Given the description of an element on the screen output the (x, y) to click on. 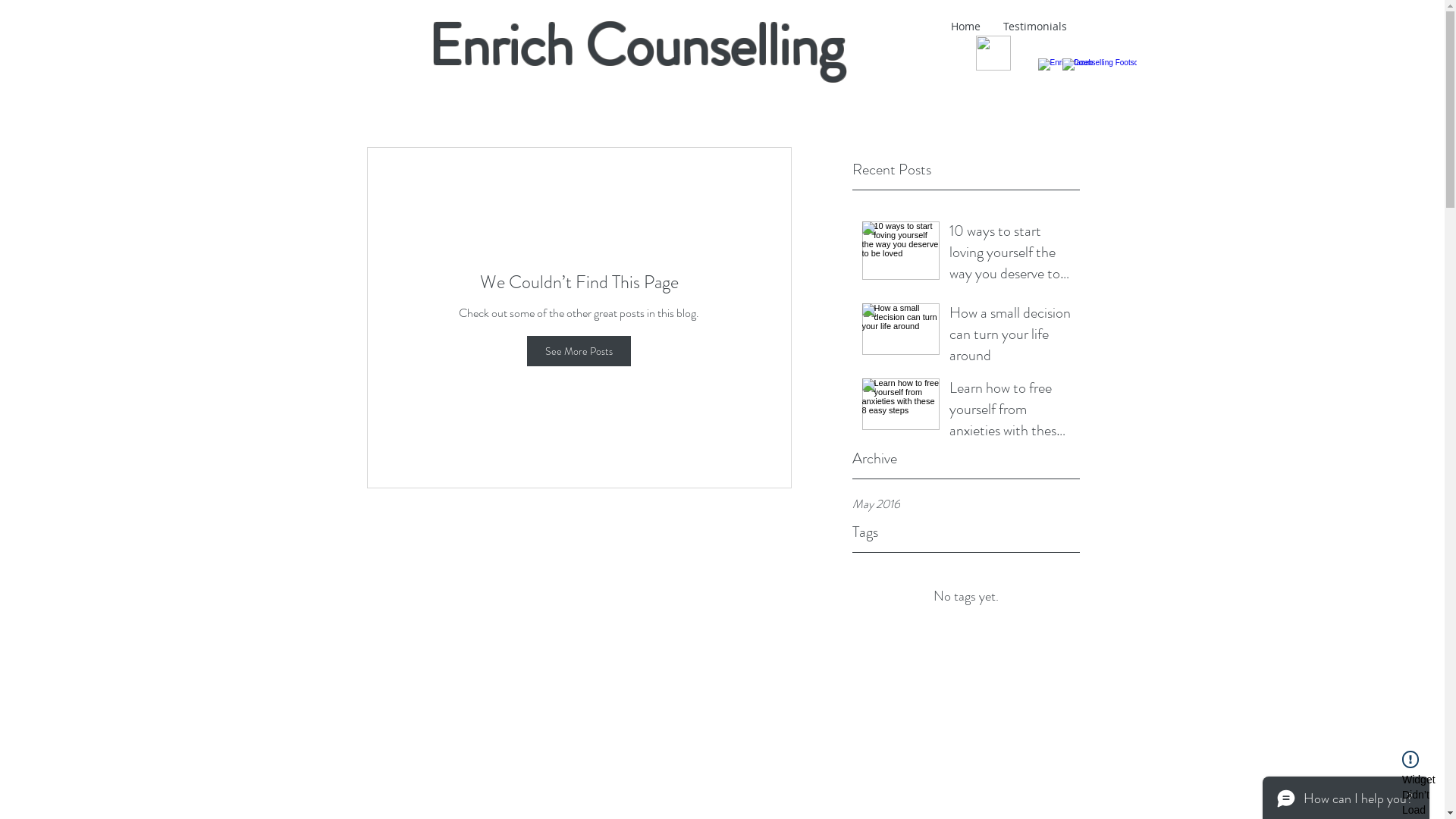
May 2016 Element type: text (965, 504)
Home Element type: text (964, 26)
Testimonials Element type: text (1034, 26)
See More Posts Element type: text (578, 350)
Menu Element type: hover (992, 52)
How a small decision can turn your life around Element type: text (1009, 337)
